Given the description of an element on the screen output the (x, y) to click on. 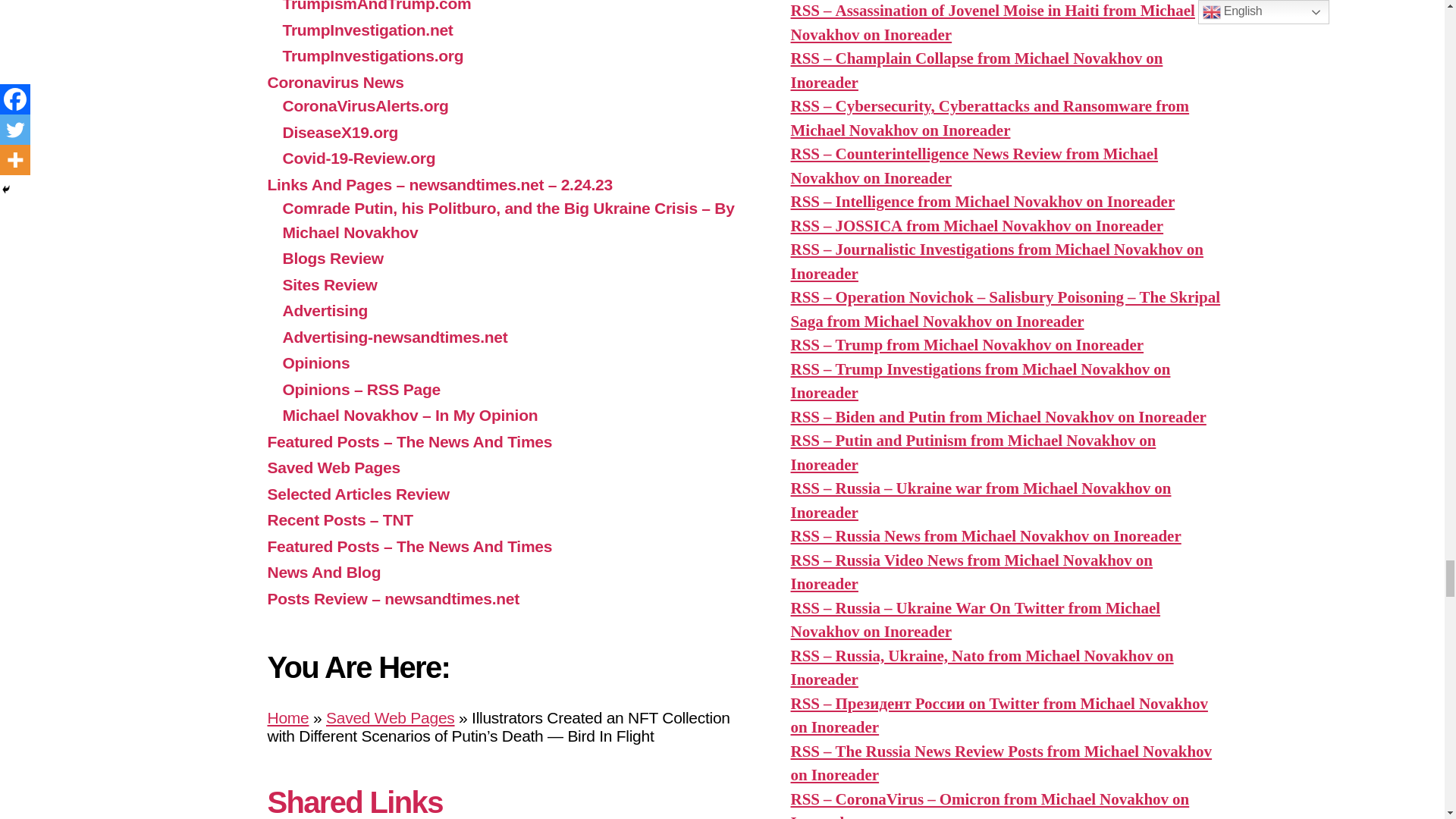
Home (287, 717)
Saved Web Pages (390, 717)
